Given the description of an element on the screen output the (x, y) to click on. 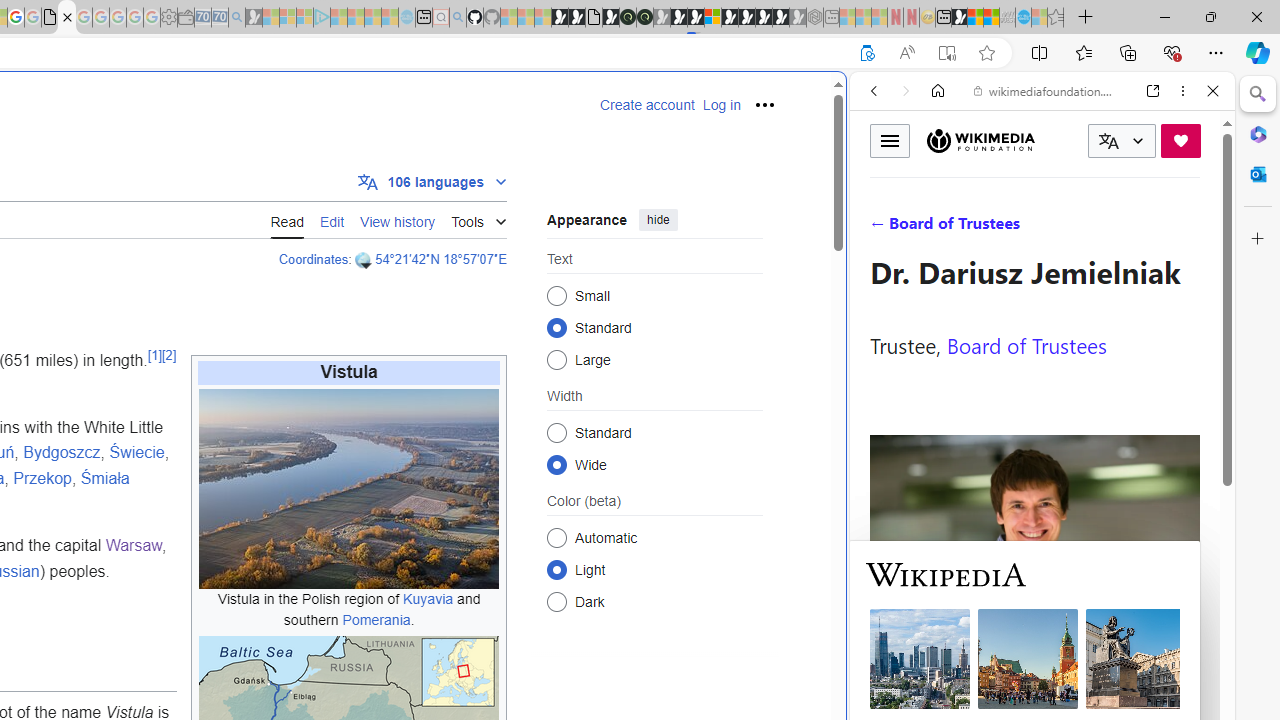
github - Search - Sleeping (457, 17)
Wiktionary (1034, 669)
Search or enter web address (343, 191)
Preferences (1189, 228)
Web scope (882, 180)
Close split screen (844, 102)
Vistula (349, 372)
Global web icon (888, 669)
Read (287, 219)
MSN (959, 17)
Microsoft Start Gaming - Sleeping (253, 17)
